Given the description of an element on the screen output the (x, y) to click on. 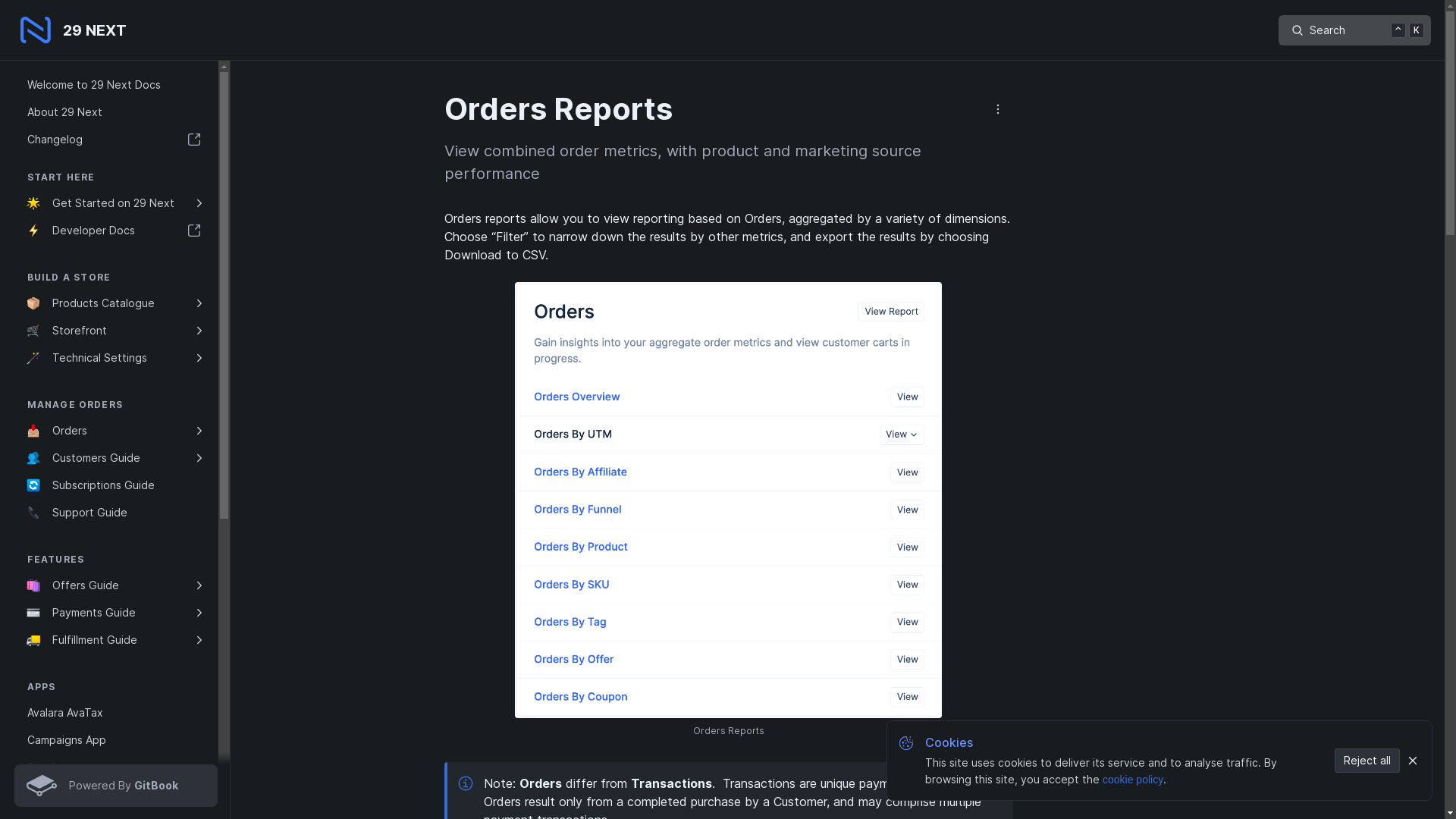
29 NEXT Element type: text (75, 30)
Everflow Element type: text (115, 767)
Welcome to 29 Next Docs Element type: text (115, 84)
Changelog Element type: text (115, 139)
cookie policy Element type: text (1132, 779)
About 29 Next Element type: text (115, 112)
Campaigns App Element type: text (115, 740)
Avalara AvaTax Element type: text (115, 712)
Powered By GitBook Element type: text (114, 785)
Gorgias Element type: text (115, 794)
